Given the description of an element on the screen output the (x, y) to click on. 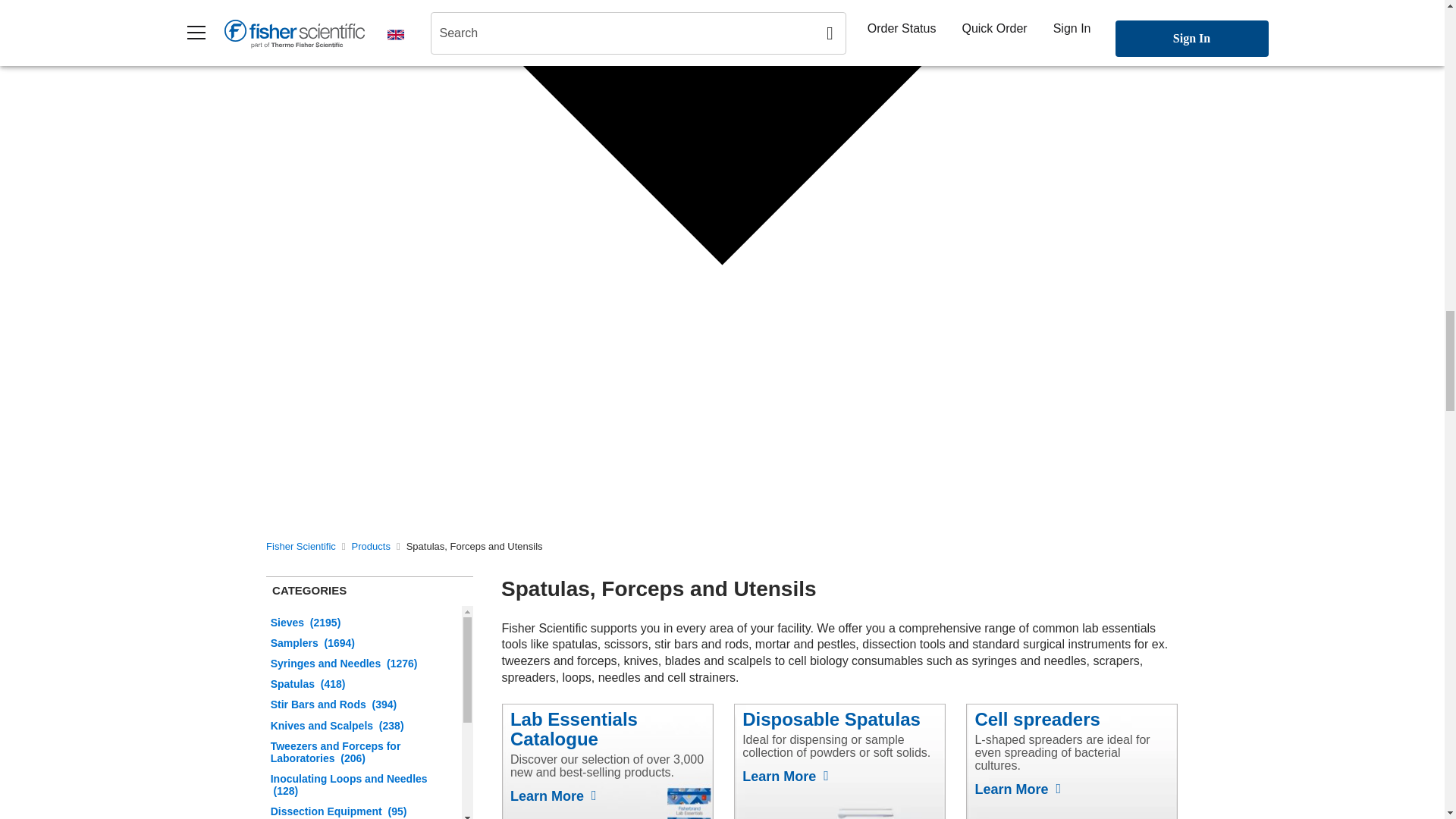
Fisher Scientific (301, 546)
Spatulas, Forceps and Utensils (474, 546)
Products (371, 546)
